Given the description of an element on the screen output the (x, y) to click on. 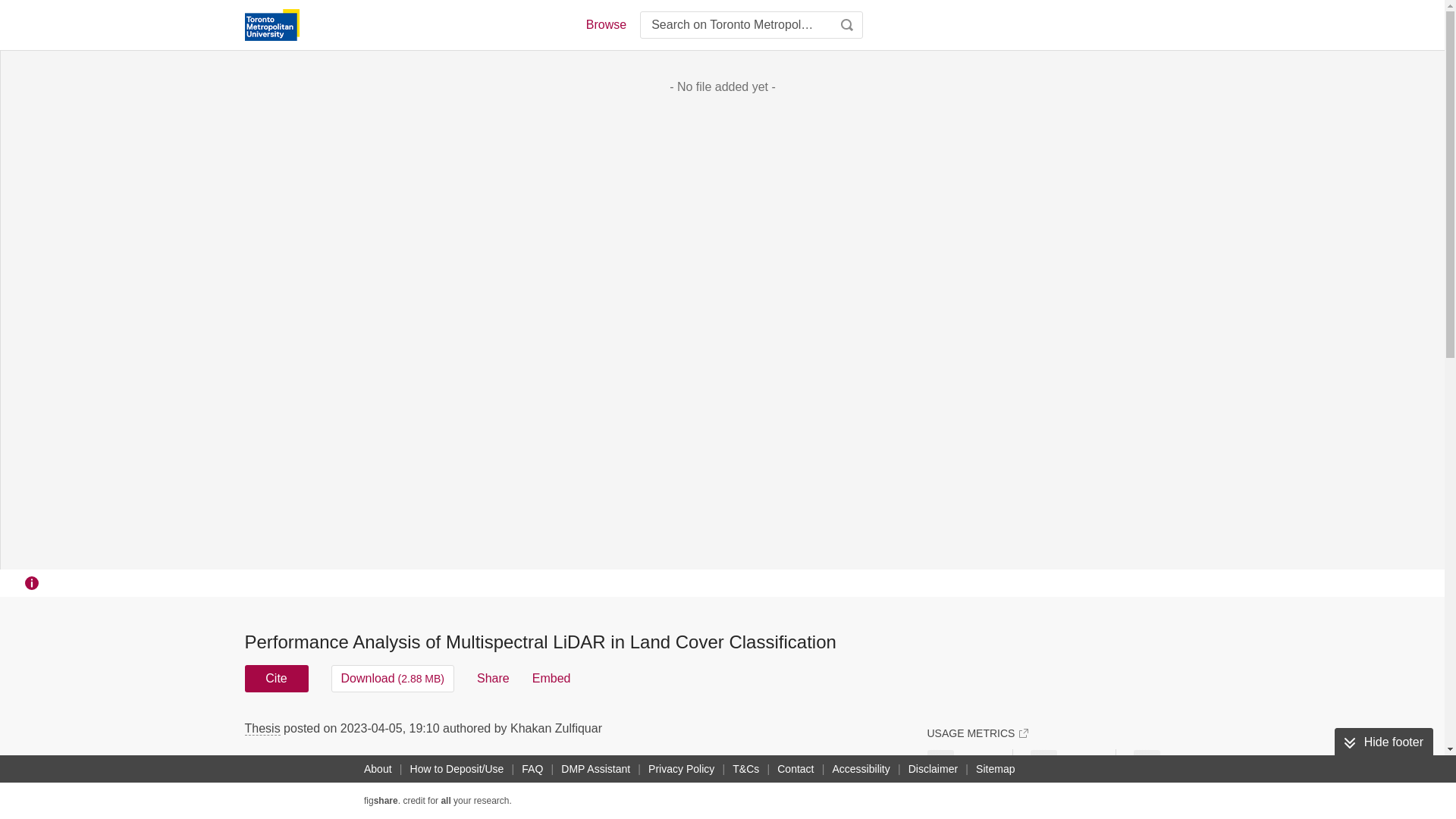
FAQ (531, 769)
Contact (795, 769)
Accessibility (861, 769)
Embed (551, 678)
Disclaimer (933, 769)
DMP Assistant (595, 769)
Cite (275, 678)
Sitemap (995, 769)
Share (493, 678)
Browse (605, 24)
